Given the description of an element on the screen output the (x, y) to click on. 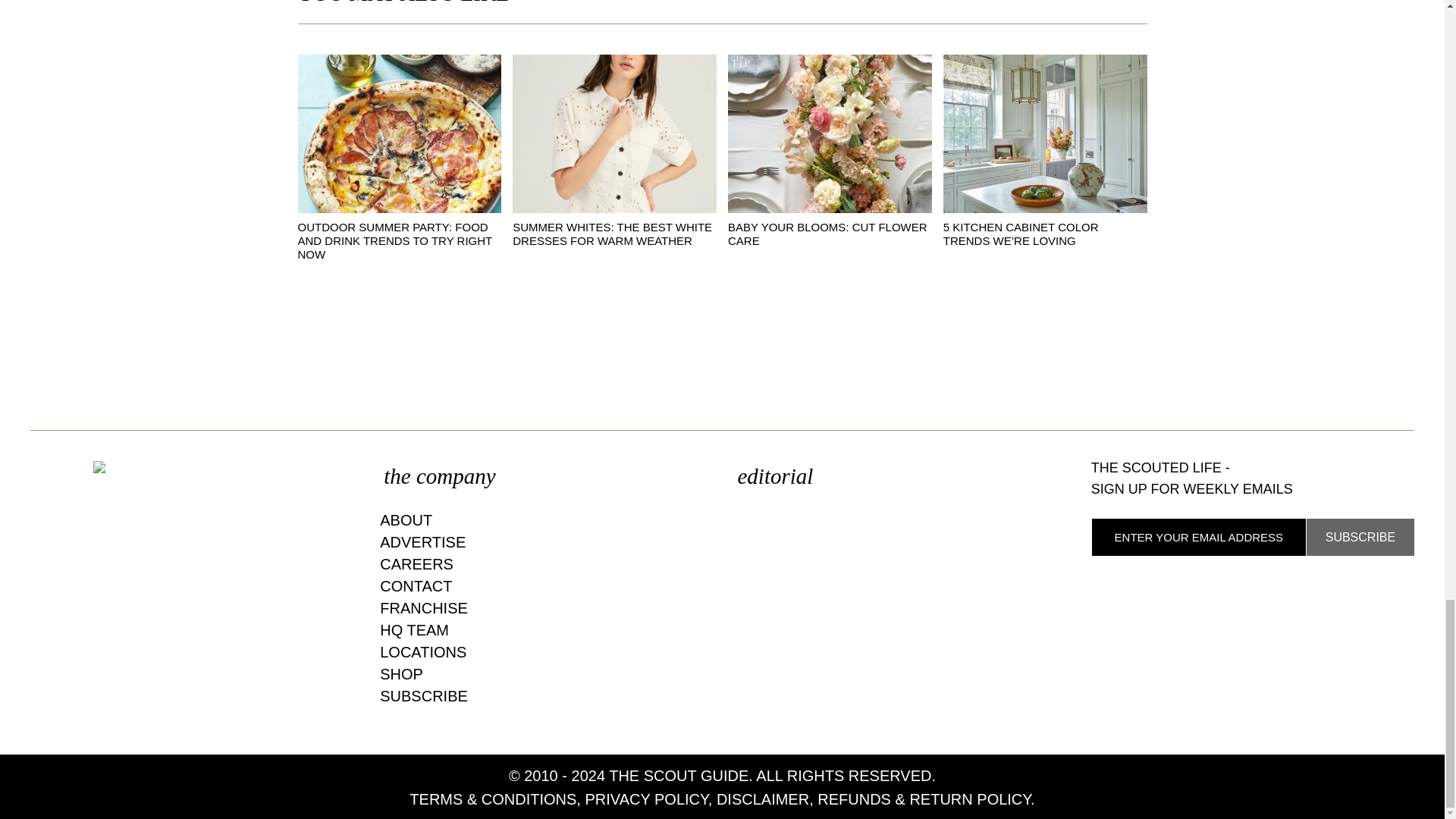
Subscribe (1359, 537)
Baby Your Blooms: Cut Flower Care (827, 233)
Outdoor Summer Party: Food and Drink Trends to Try Right Now (398, 133)
Summer Whites: The Best White Dresses for Warm Weather (611, 233)
Summer Whites: The Best White Dresses for Warm Weather (614, 133)
Baby Your Blooms: Cut Flower Care (829, 133)
The Scout Guide Icon Logo (191, 467)
Outdoor Summer Party: Food and Drink Trends to Try Right Now (394, 240)
